Given the description of an element on the screen output the (x, y) to click on. 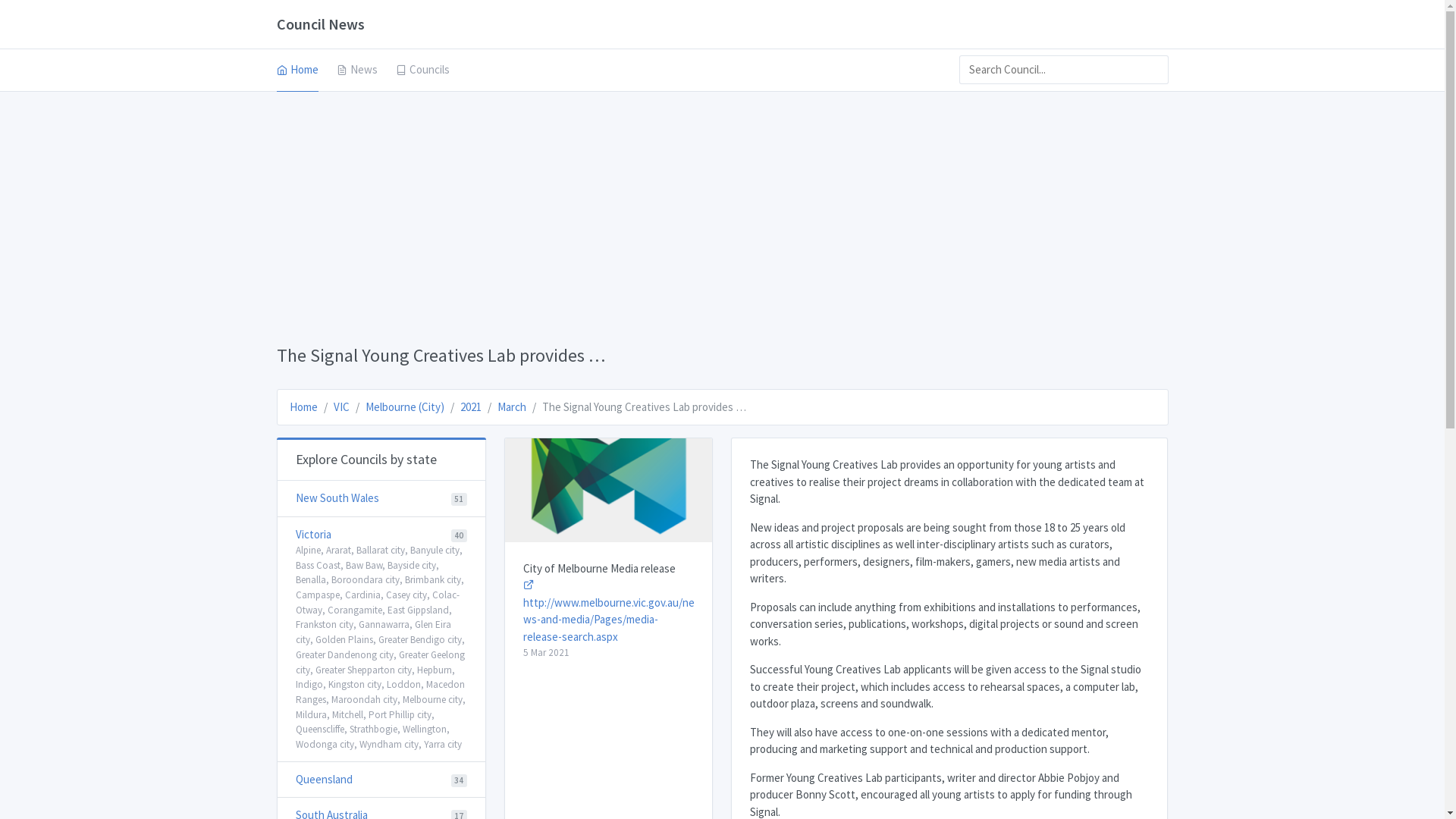
Greater Bendigo city Element type: text (419, 639)
Queensland Element type: text (323, 778)
Boroondara city Element type: text (364, 579)
Loddon Element type: text (403, 683)
Bayside city Element type: text (410, 564)
Baw Baw Element type: text (363, 564)
News Element type: text (356, 70)
VIC Element type: text (341, 405)
2021 Element type: text (469, 405)
Indigo Element type: text (309, 683)
Wyndham city Element type: text (388, 743)
Casey city Element type: text (405, 594)
Benalla Element type: text (310, 579)
Banyule city Element type: text (433, 549)
Wellington Element type: text (423, 728)
Kingston city Element type: text (353, 683)
Home Element type: text (296, 70)
Victoria Element type: text (313, 533)
Frankston city Element type: text (324, 624)
Golden Plains Element type: text (344, 639)
Ararat Element type: text (338, 549)
Greater Geelong city Element type: text (379, 662)
Greater Shepparton city Element type: text (363, 668)
Hepburn Element type: text (434, 668)
Bass Coast Element type: text (317, 564)
Gannawarra Element type: text (382, 624)
Council News Element type: text (320, 24)
Mildura Element type: text (310, 714)
City of Melbourne Media release Element type: text (599, 568)
Home Element type: text (303, 405)
Colac-Otway Element type: text (377, 602)
Port Phillip city Element type: text (399, 714)
Ballarat city Element type: text (380, 549)
Wodonga city Element type: text (324, 743)
Councils Element type: text (422, 70)
Glen Eira city Element type: text (373, 632)
Maroondah city Element type: text (363, 699)
Melbourne city Element type: text (431, 699)
Strathbogie Element type: text (372, 728)
Alpine Element type: text (307, 549)
Brimbank city Element type: text (432, 579)
Queenscliffe Element type: text (319, 728)
New South Wales Element type: text (337, 497)
Cardinia Element type: text (361, 594)
Macedon Ranges Element type: text (379, 691)
Corangamite Element type: text (354, 609)
East Gippsland Element type: text (417, 609)
Greater Dandenong city Element type: text (344, 654)
Yarra city Element type: text (442, 743)
Advertisement Element type: hover (721, 215)
Campaspe Element type: text (317, 594)
Melbourne (City) Element type: text (404, 405)
Mitchell Element type: text (347, 714)
March Element type: text (511, 405)
